Given the description of an element on the screen output the (x, y) to click on. 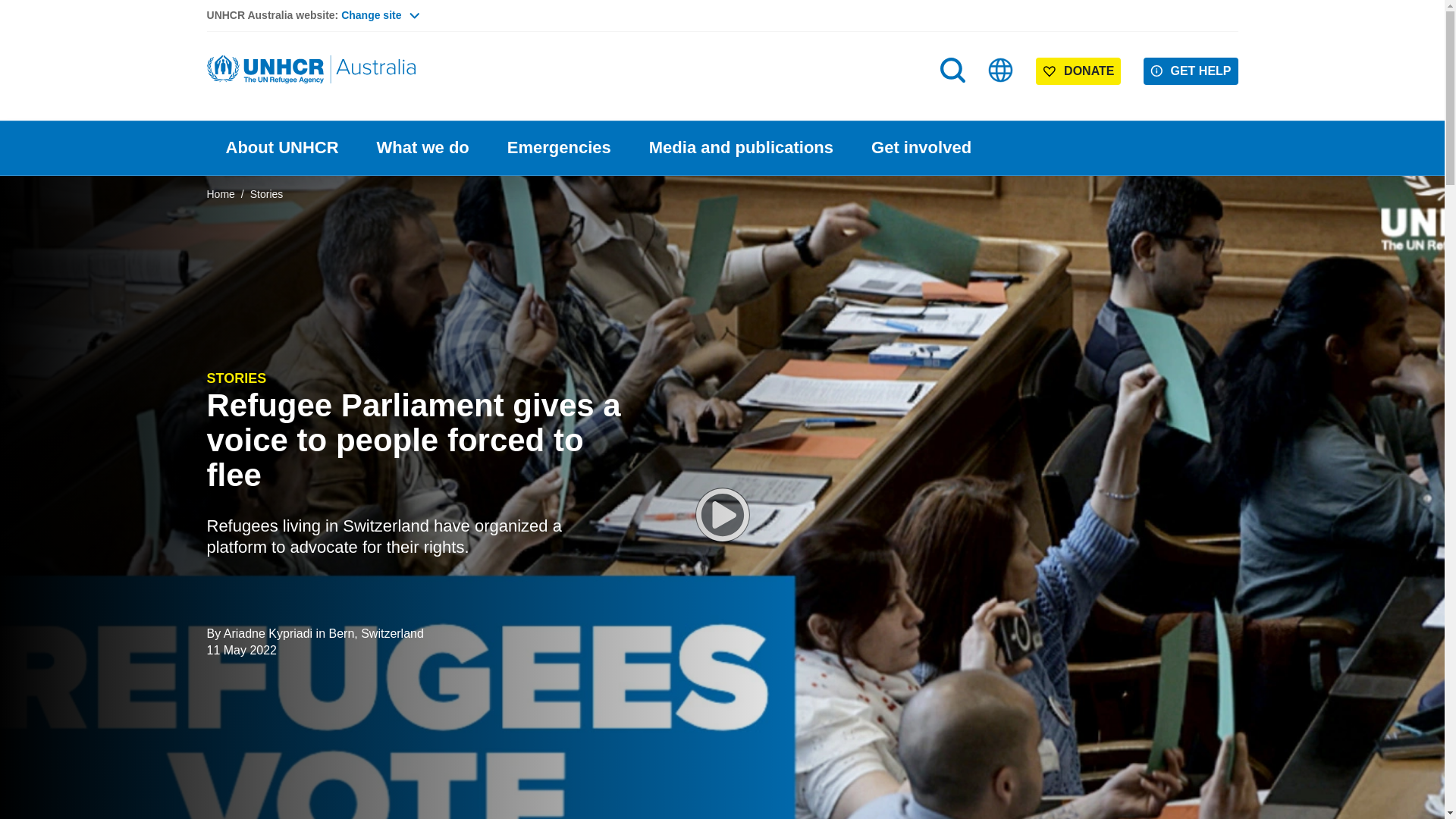
Sites (1000, 69)
Skip to main content (721, 1)
Search (952, 69)
GET HELP (1189, 71)
Search (954, 99)
Home (312, 69)
DONATE (1078, 71)
Change site (379, 15)
About UNHCR (281, 148)
